Given the description of an element on the screen output the (x, y) to click on. 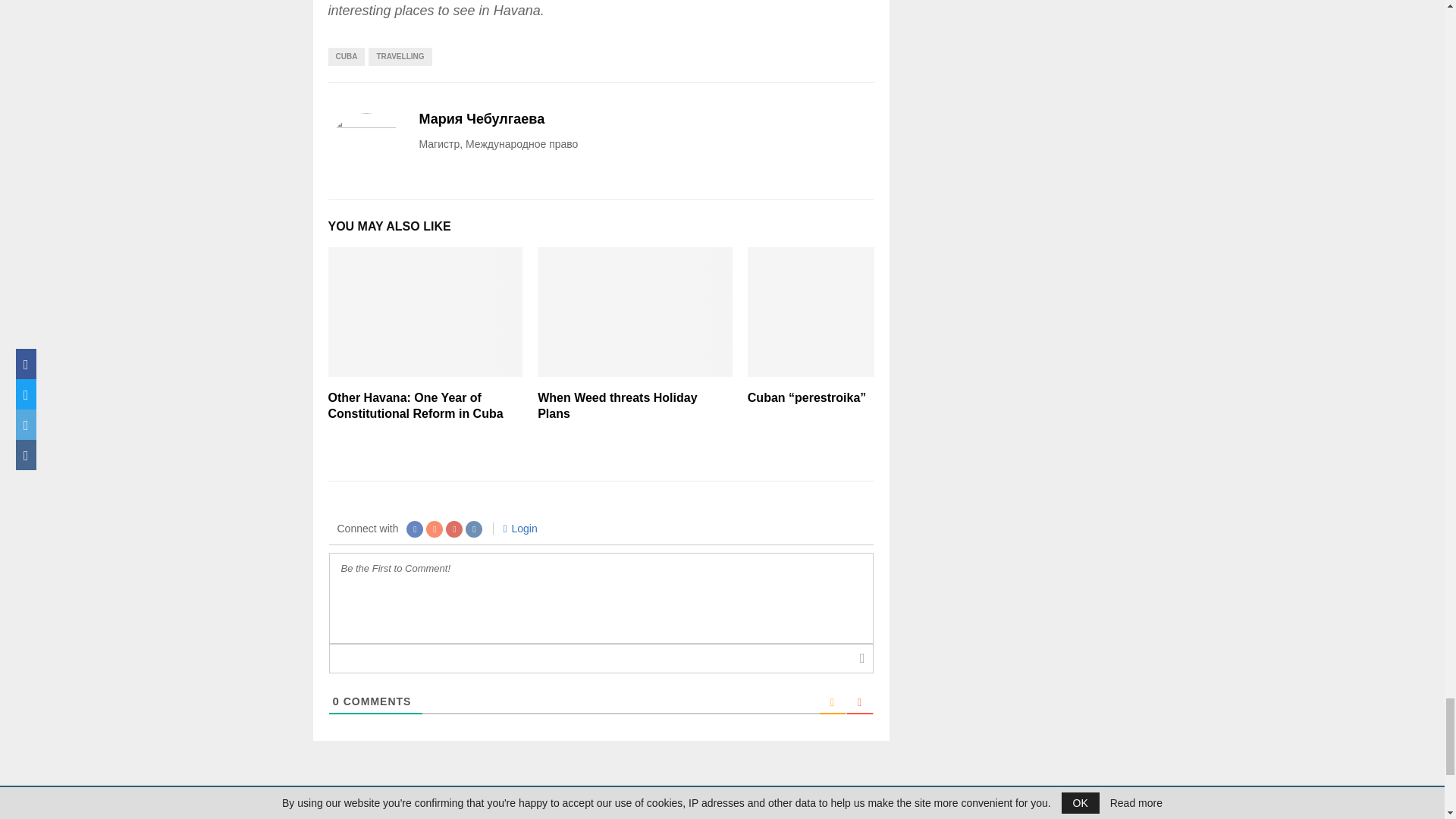
TRAVELLING (399, 56)
Other Havana: One Year of Constitutional Reform in Cuba (414, 405)
CUBA (346, 56)
